Given the description of an element on the screen output the (x, y) to click on. 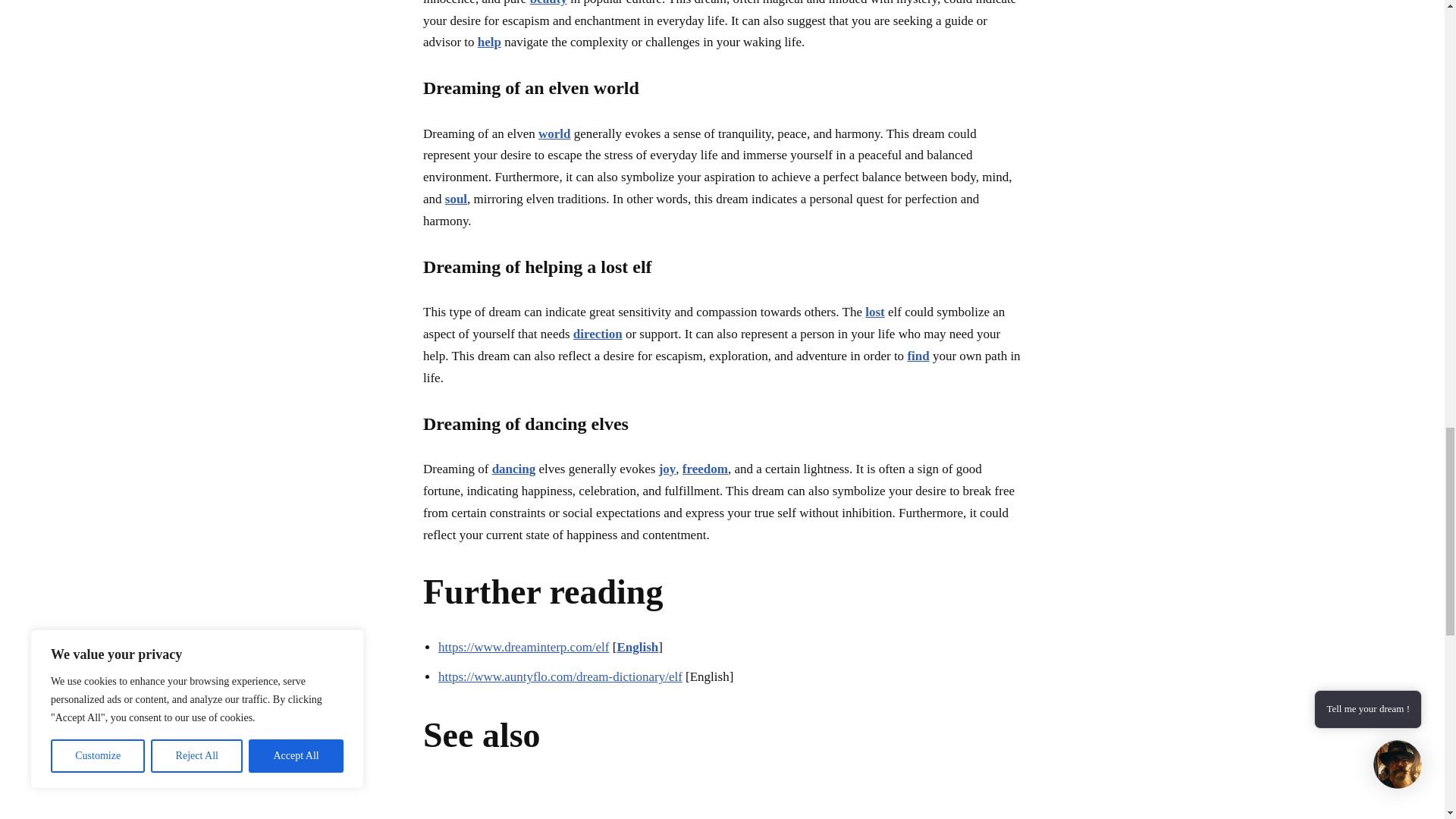
What is the meaning of dreaming about a monkey? (797, 805)
What is the meaning of dreaming about magic? (494, 805)
What is the meaning of dreaming about a fairy? (646, 805)
What is the meaning of dreaming about Mickey Mouse? (949, 805)
